Given the description of an element on the screen output the (x, y) to click on. 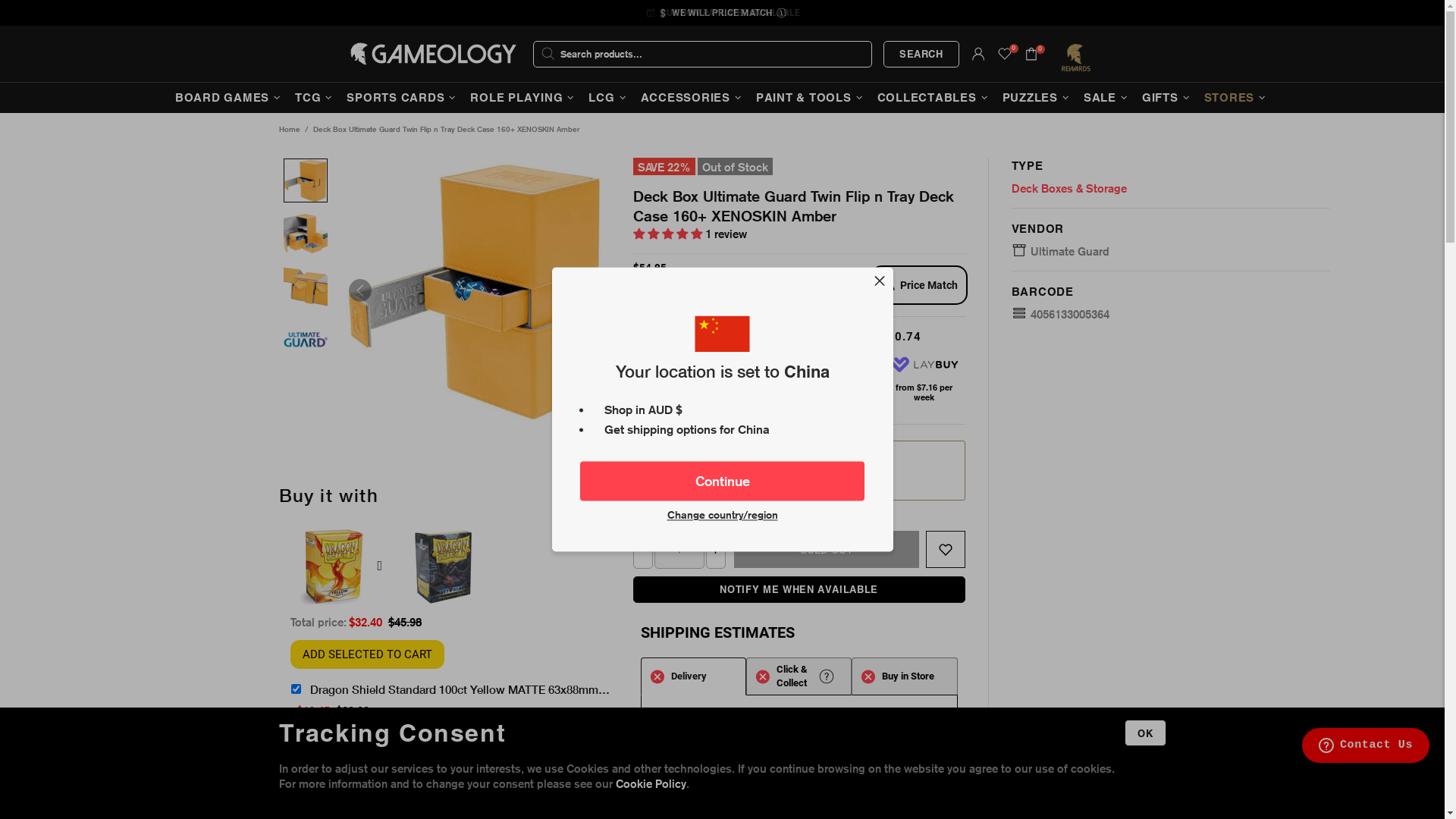
0 Element type: text (1004, 53)
ROLE PLAYING Element type: text (523, 97)
SOLD OUT Element type: text (826, 548)
SALE Element type: text (1107, 97)
Deck Boxes & Storage Element type: text (1068, 188)
ACCESSORIES Element type: text (692, 97)
REWARDS Element type: text (64, 769)
Click & Collect Element type: text (798, 675)
Cookie Policy Element type: text (650, 783)
Opens a widget where you can find more information Element type: hover (1365, 746)
SPORTS CARDS Element type: text (402, 97)
Gameology Element type: text (432, 53)
PAINT & TOOLS Element type: text (811, 97)
ADD SELECTED TO CART Element type: text (366, 654)
Buy in Store Element type: text (904, 675)
STORES Element type: text (1236, 97)
OK Element type: text (1144, 732)
LCG Element type: text (608, 97)
Home Element type: text (288, 129)
COLLECTABLES Element type: text (934, 97)
BOARD GAMES Element type: text (229, 97)
Delivery Element type: text (693, 675)
GIFTS Element type: text (1167, 97)
TCG Element type: text (315, 97)
SEARCH Element type: text (921, 53)
NOTIFY ME WHEN AVAILABLE Element type: text (799, 589)
PUZZLES Element type: text (1037, 97)
